Given the description of an element on the screen output the (x, y) to click on. 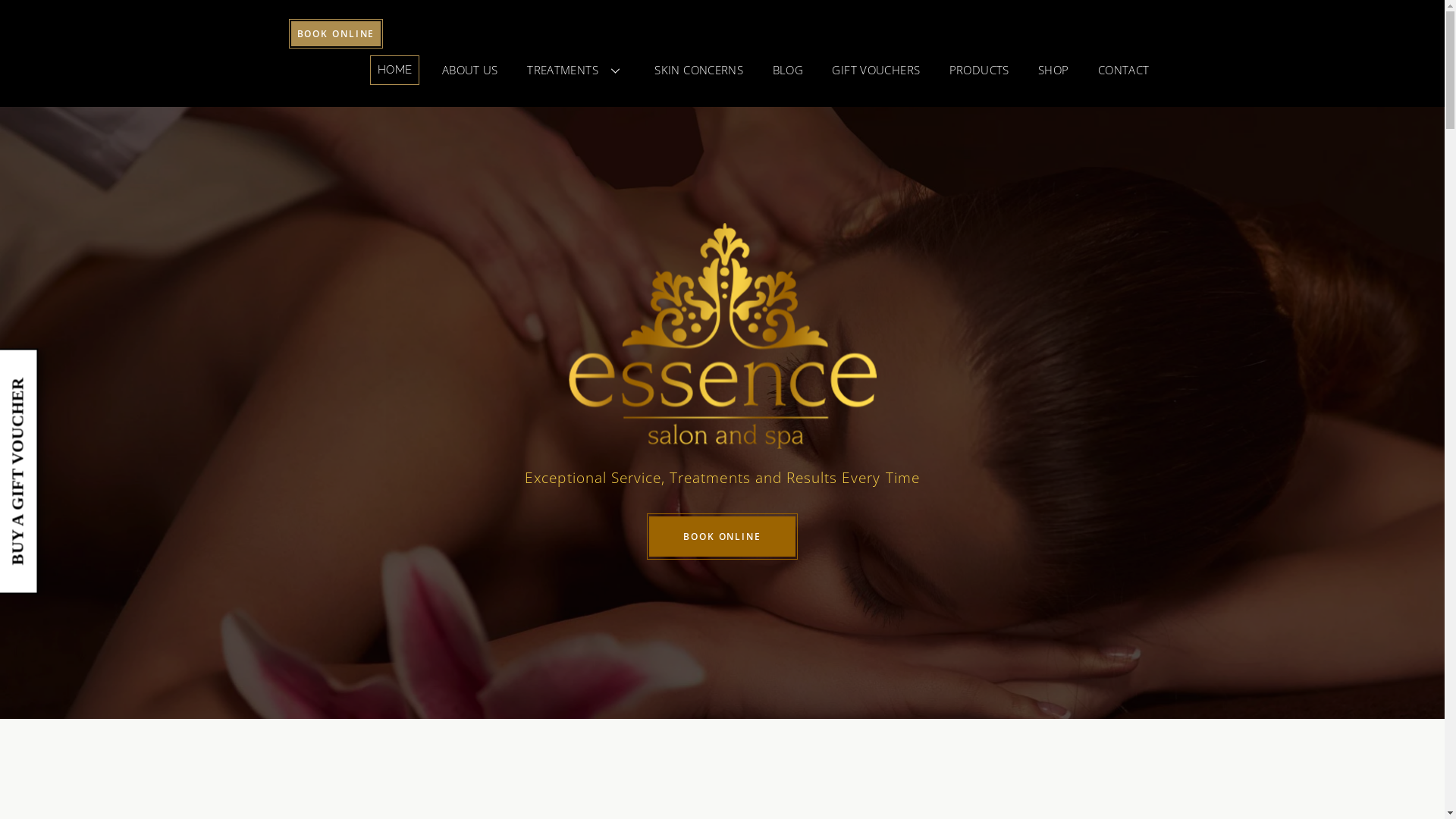
CONTACT Element type: text (1123, 69)
PRODUCTS Element type: text (979, 69)
BOOK ONLINE Element type: text (335, 33)
SKIN CONCERNS Element type: text (698, 69)
BOOK ONLINE Element type: text (721, 536)
TREATMENTS Element type: text (576, 69)
SHOP Element type: text (1053, 69)
BLOG Element type: text (787, 69)
ABOUT US Element type: text (470, 69)
essence-logo-master2 Element type: hover (722, 335)
BUY A GIFT VOUCHER Element type: text (100, 386)
GIFT VOUCHERS Element type: text (875, 69)
HOME Element type: text (395, 69)
